Given the description of an element on the screen output the (x, y) to click on. 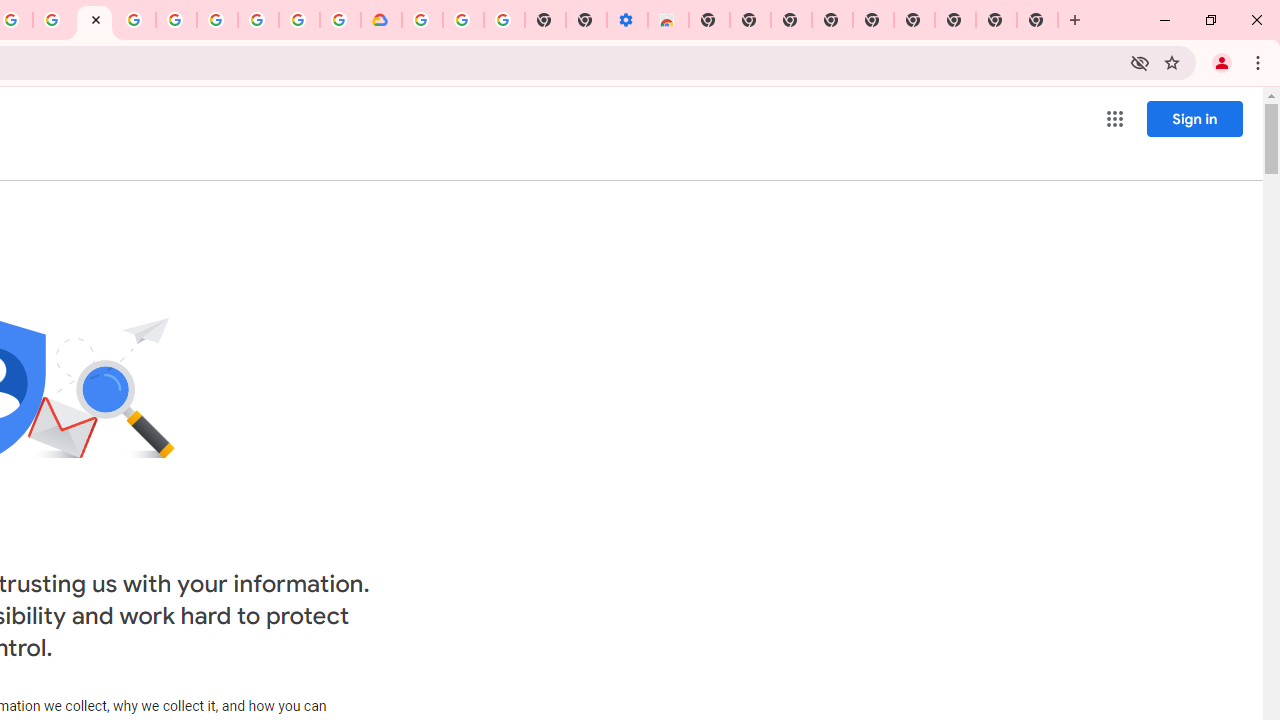
Google Account Help (217, 20)
Sign in - Google Accounts (421, 20)
New Tab (955, 20)
Create your Google Account (53, 20)
Browse the Google Chrome Community - Google Chrome Community (340, 20)
Ad Settings (135, 20)
